Given the description of an element on the screen output the (x, y) to click on. 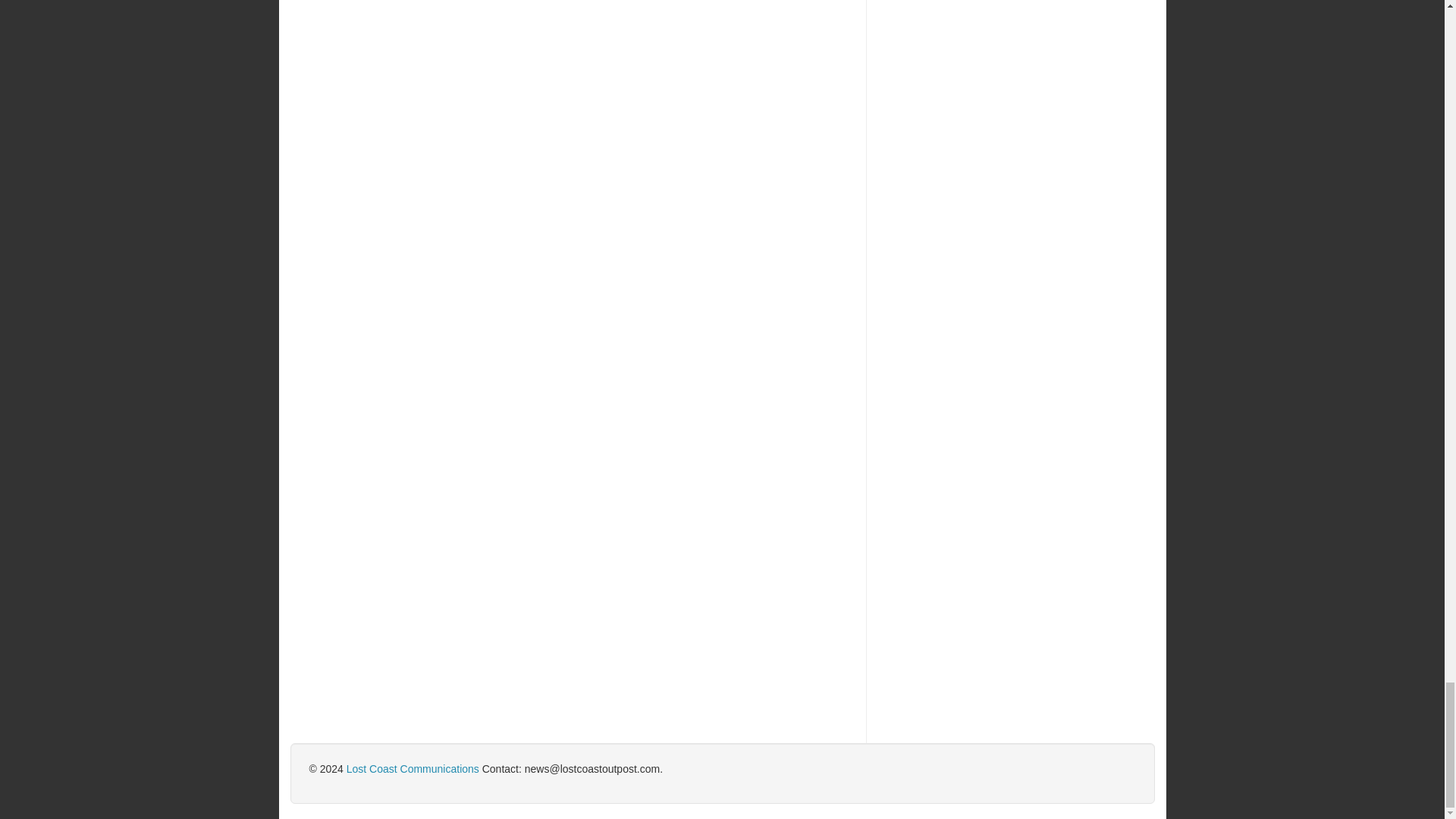
Lost Coast Communications (412, 768)
